Given the description of an element on the screen output the (x, y) to click on. 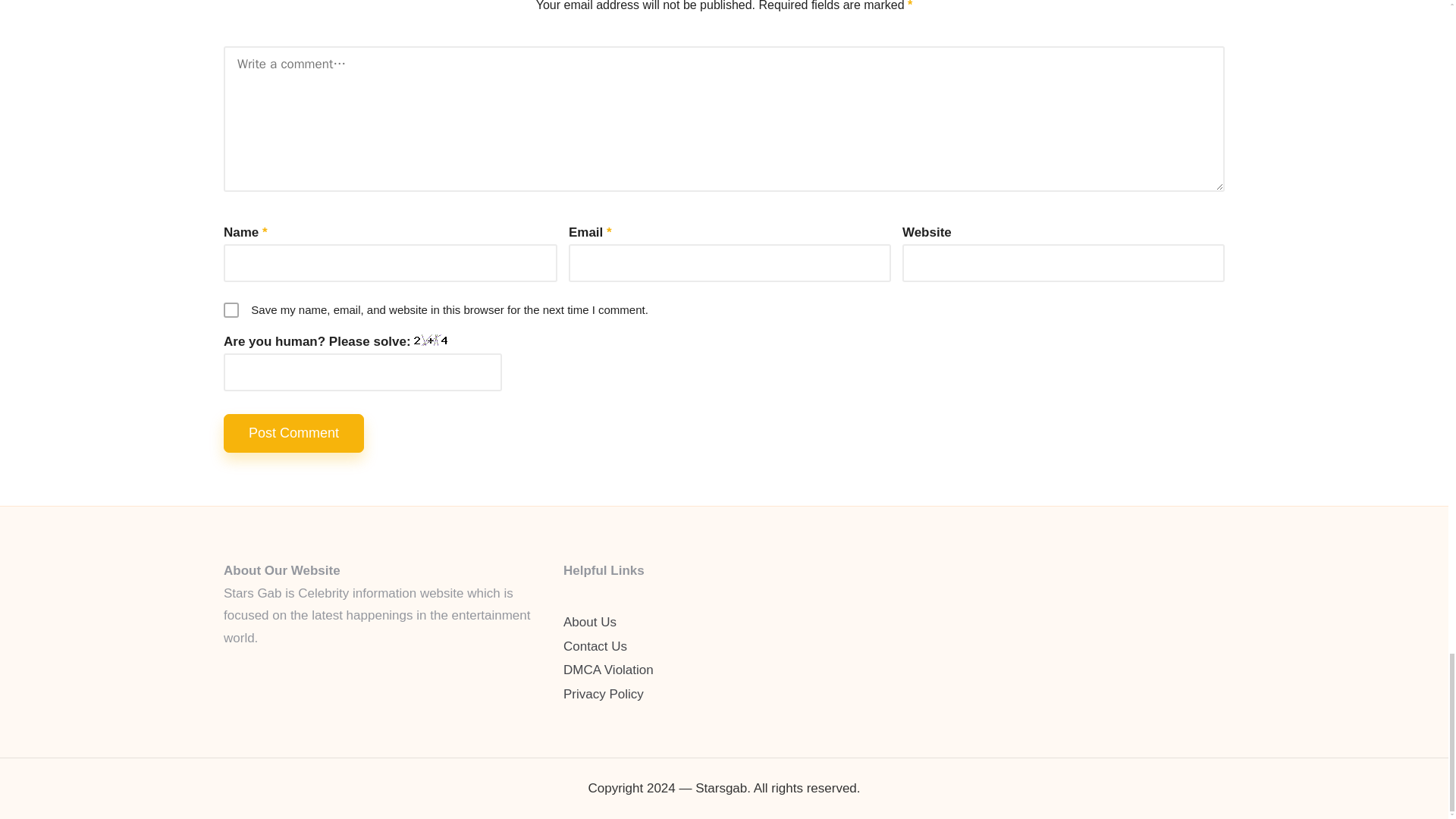
yes (231, 309)
Post Comment (294, 433)
